Given the description of an element on the screen output the (x, y) to click on. 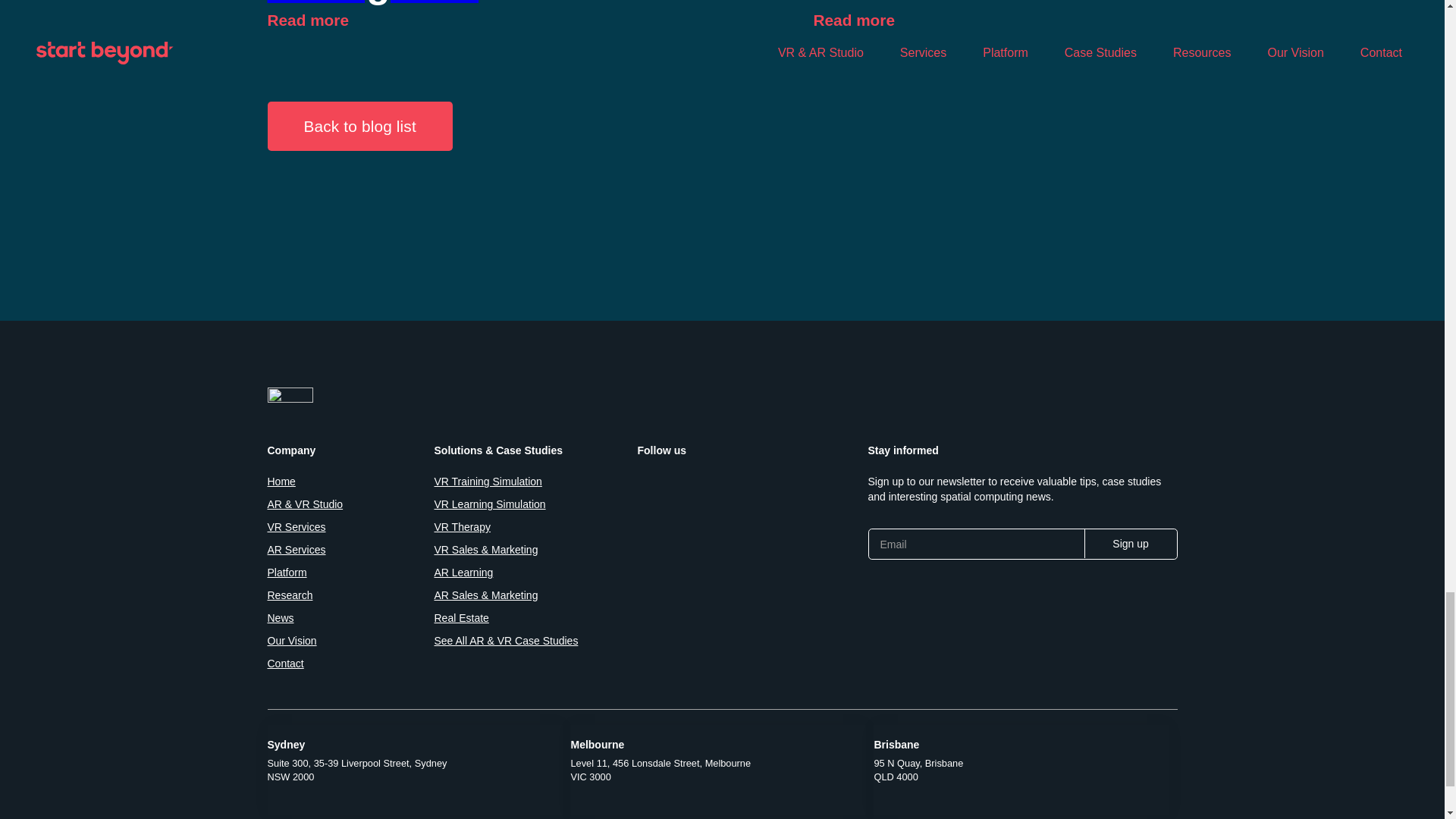
Sign up (1130, 543)
